Given the description of an element on the screen output the (x, y) to click on. 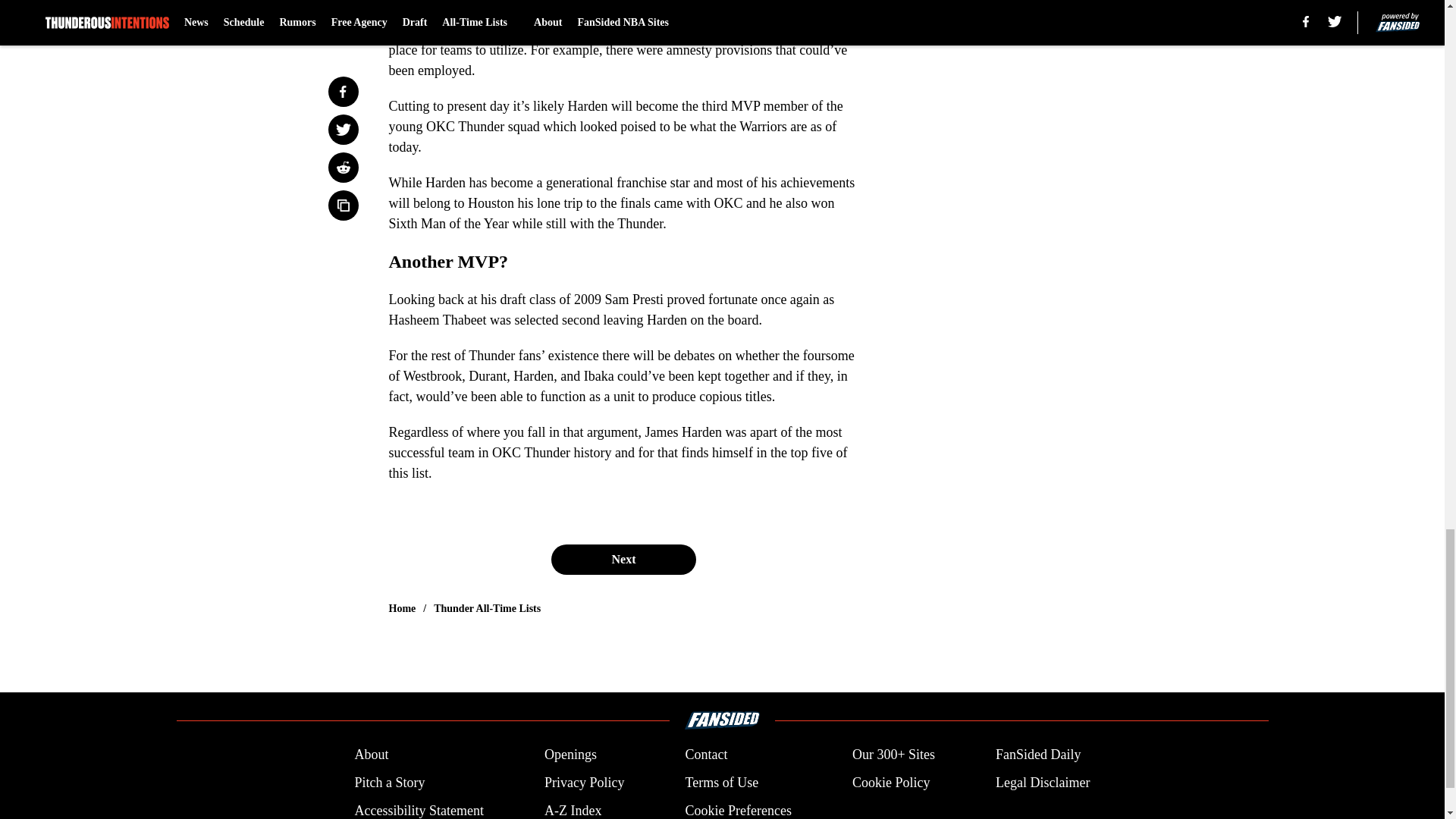
Home (401, 608)
Accessibility Statement (418, 809)
Next (622, 559)
About (370, 754)
Contact (705, 754)
Terms of Use (721, 783)
Pitch a Story (389, 783)
Legal Disclaimer (1042, 783)
Thunder All-Time Lists (486, 608)
FanSided Daily (1038, 754)
